Given the description of an element on the screen output the (x, y) to click on. 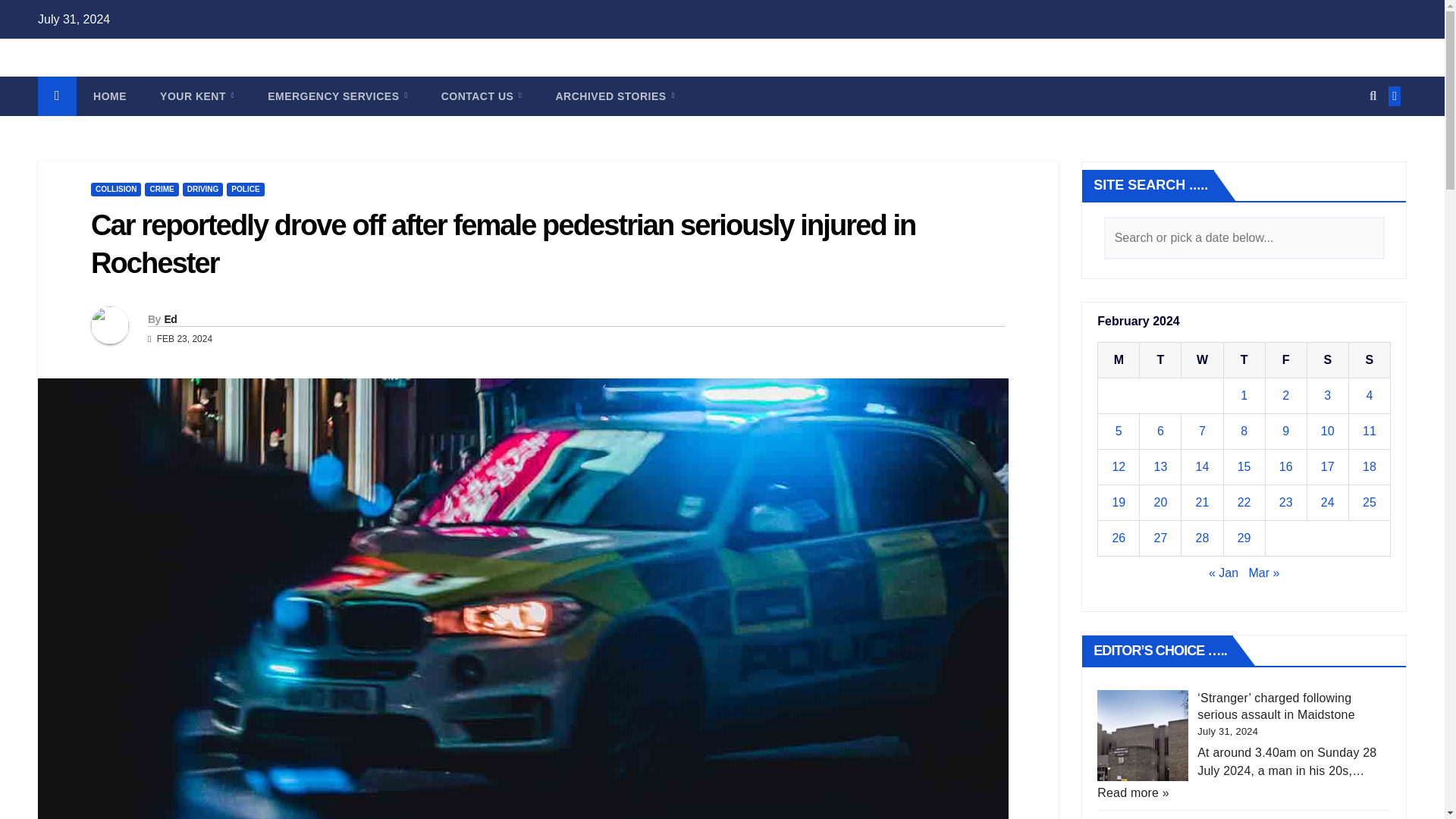
HOME (109, 96)
HOME (109, 96)
YOUR KENT (196, 96)
YOUR KENT (196, 96)
